Given the description of an element on the screen output the (x, y) to click on. 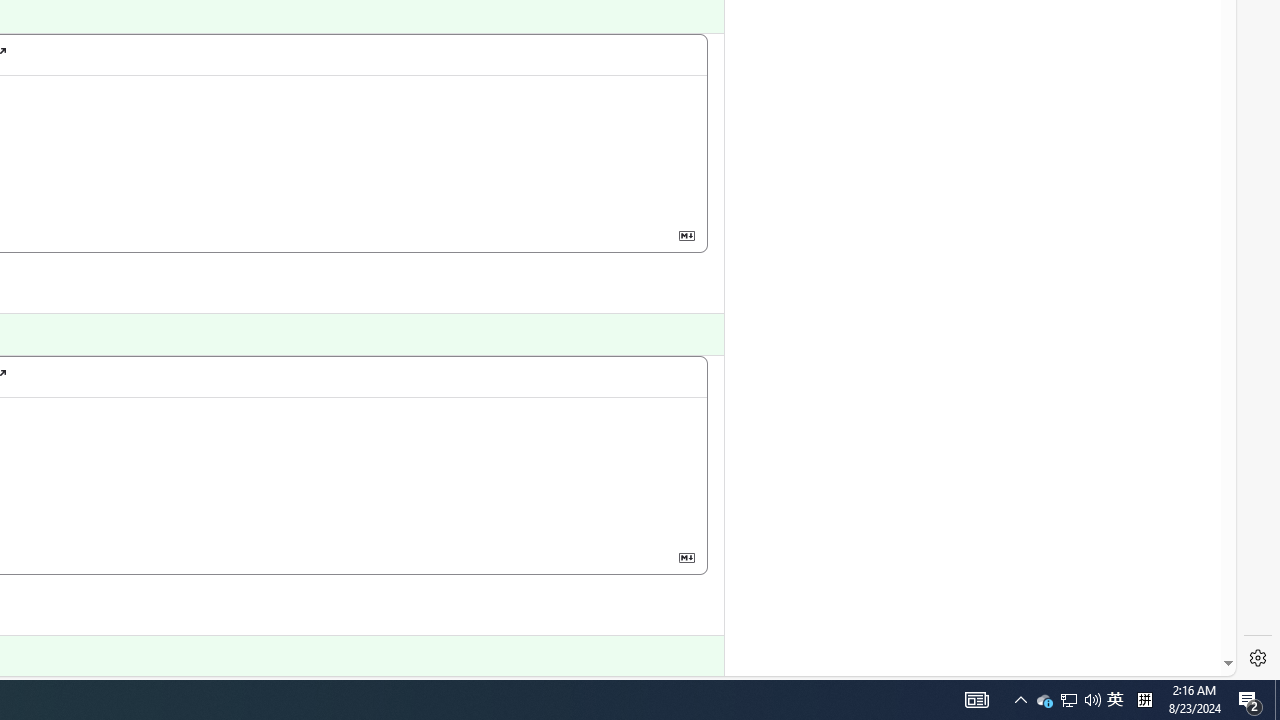
Class: div-dropzone-icon s24 (97, 470)
Class: s16 gl-icon gl-button-icon  (686, 556)
